Given the description of an element on the screen output the (x, y) to click on. 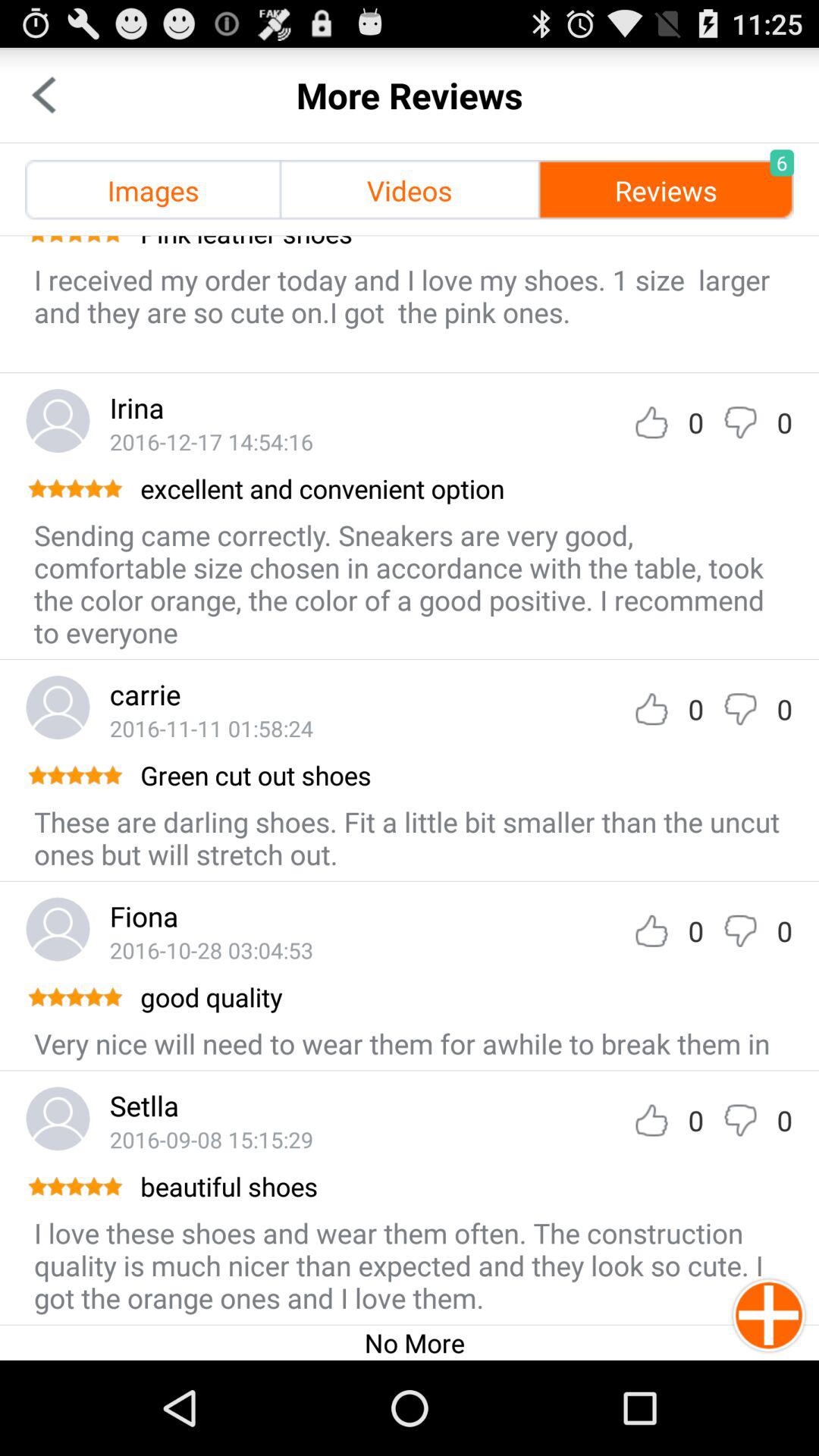
like comment (651, 1120)
